Given the description of an element on the screen output the (x, y) to click on. 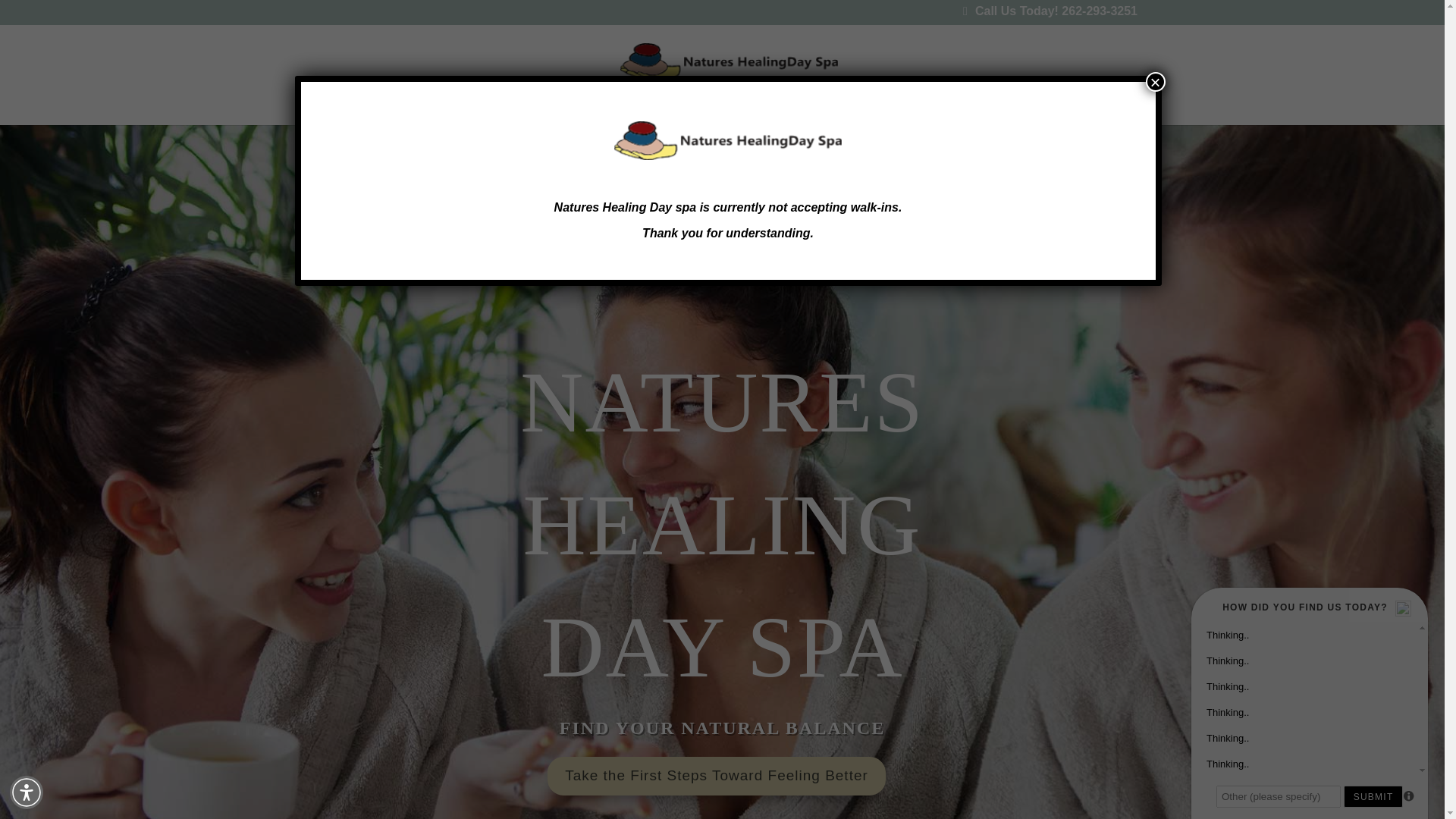
CONTACT US (1018, 113)
Survey: How did you find our site? (1309, 699)
Accessibility Menu (26, 792)
HOME (413, 113)
Call Us Today! 262-293-3251 (1049, 15)
ABOUT (483, 113)
Take the First Steps Toward Feeling Better (716, 776)
